Given the description of an element on the screen output the (x, y) to click on. 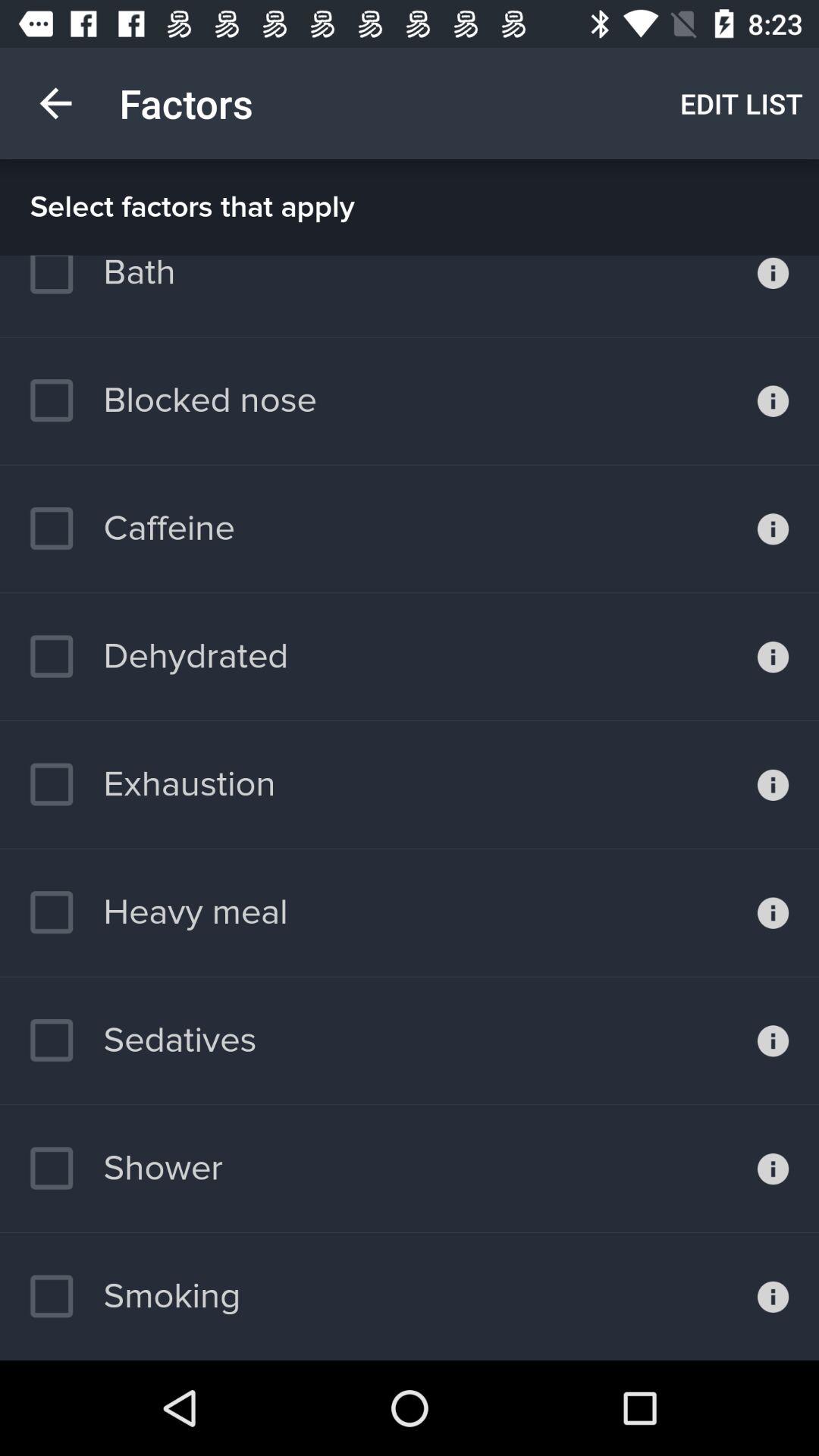
swipe until bath (102, 282)
